Given the description of an element on the screen output the (x, y) to click on. 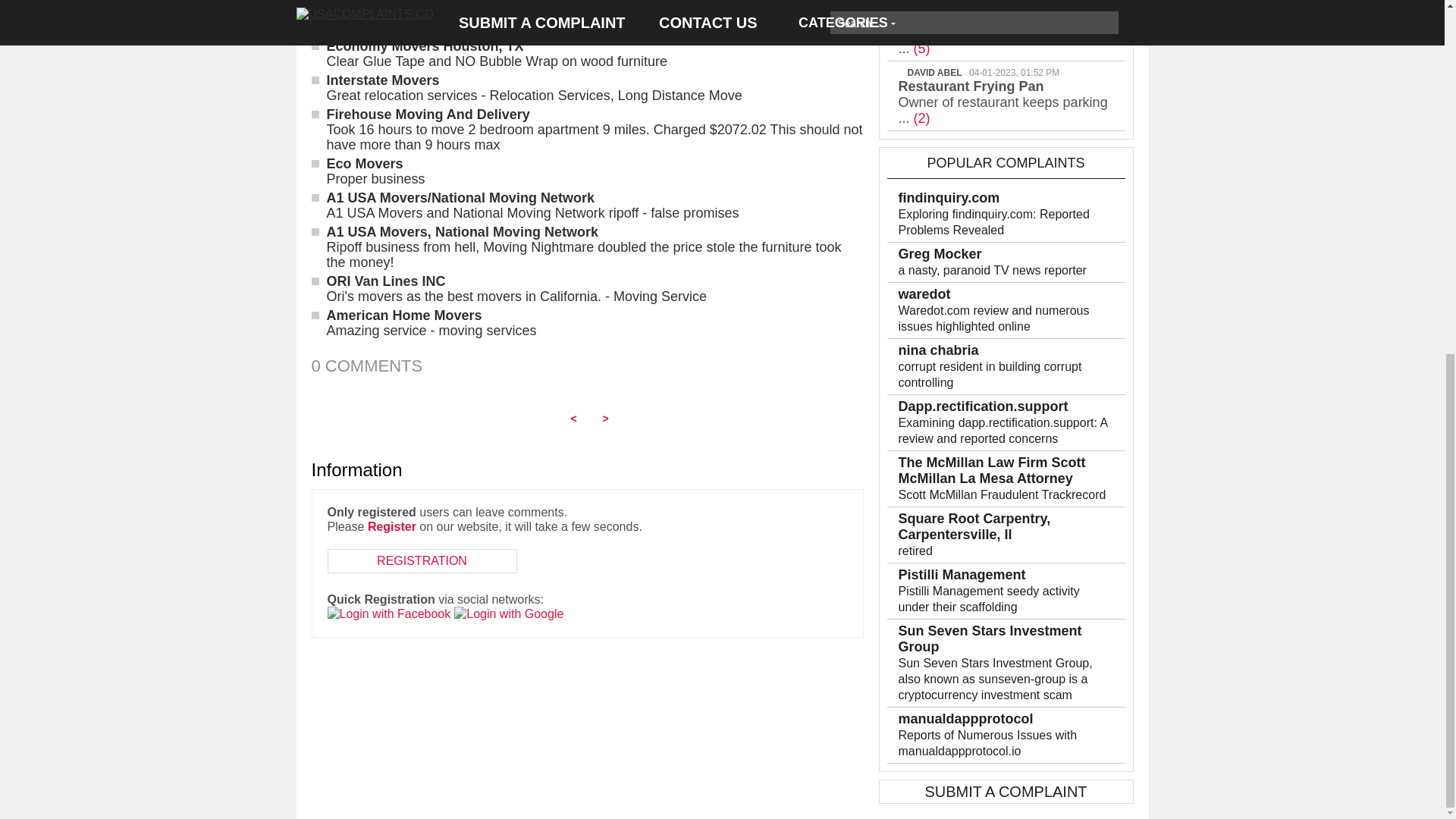
Login with Facebook (389, 613)
Login with Google (508, 613)
